Given the description of an element on the screen output the (x, y) to click on. 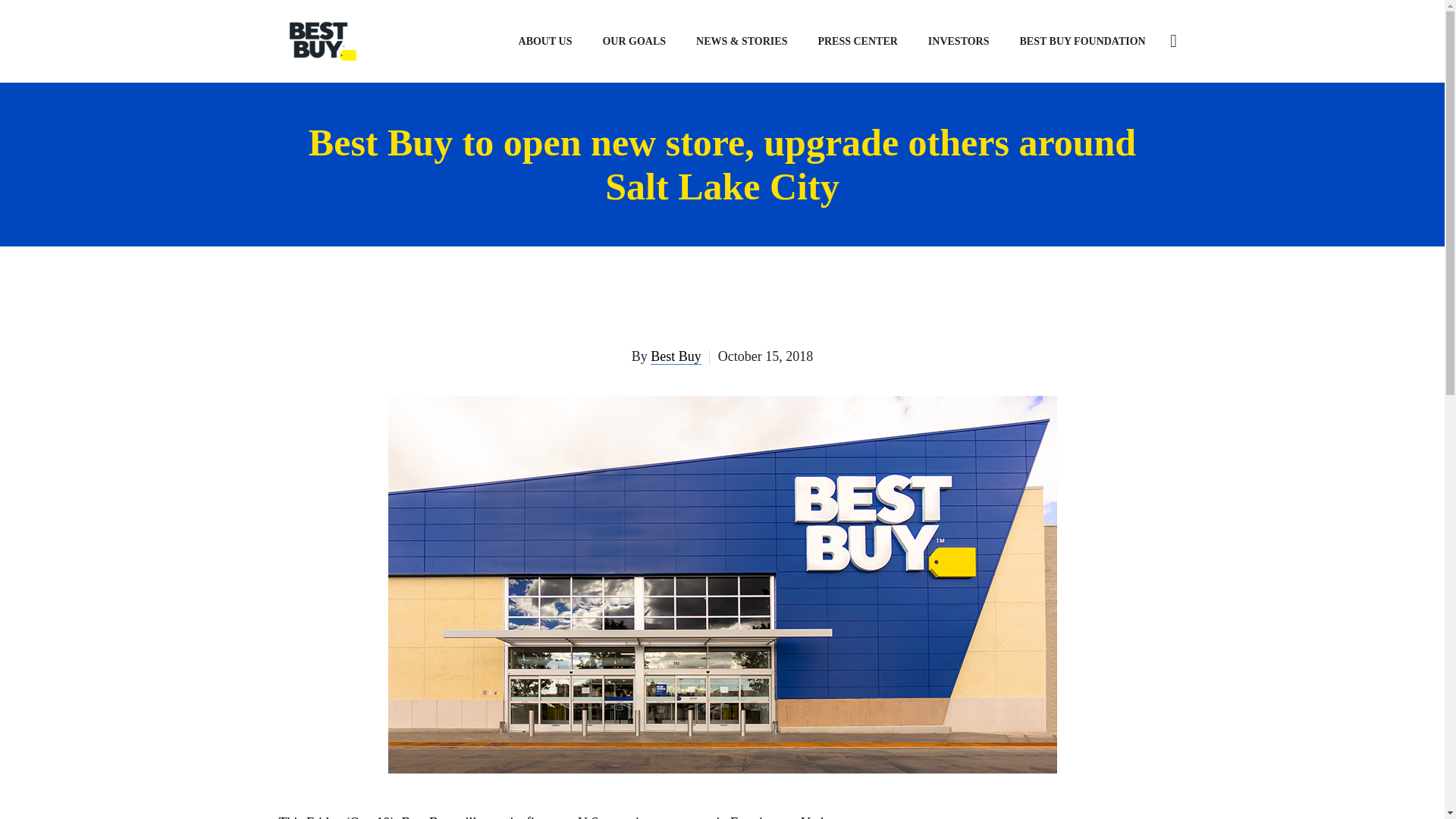
ABOUT US (545, 40)
PRESS CENTER (857, 40)
Best Buy (675, 356)
OUR GOALS (633, 40)
INVESTORS (958, 40)
BEST BUY FOUNDATION (1082, 40)
